Given the description of an element on the screen output the (x, y) to click on. 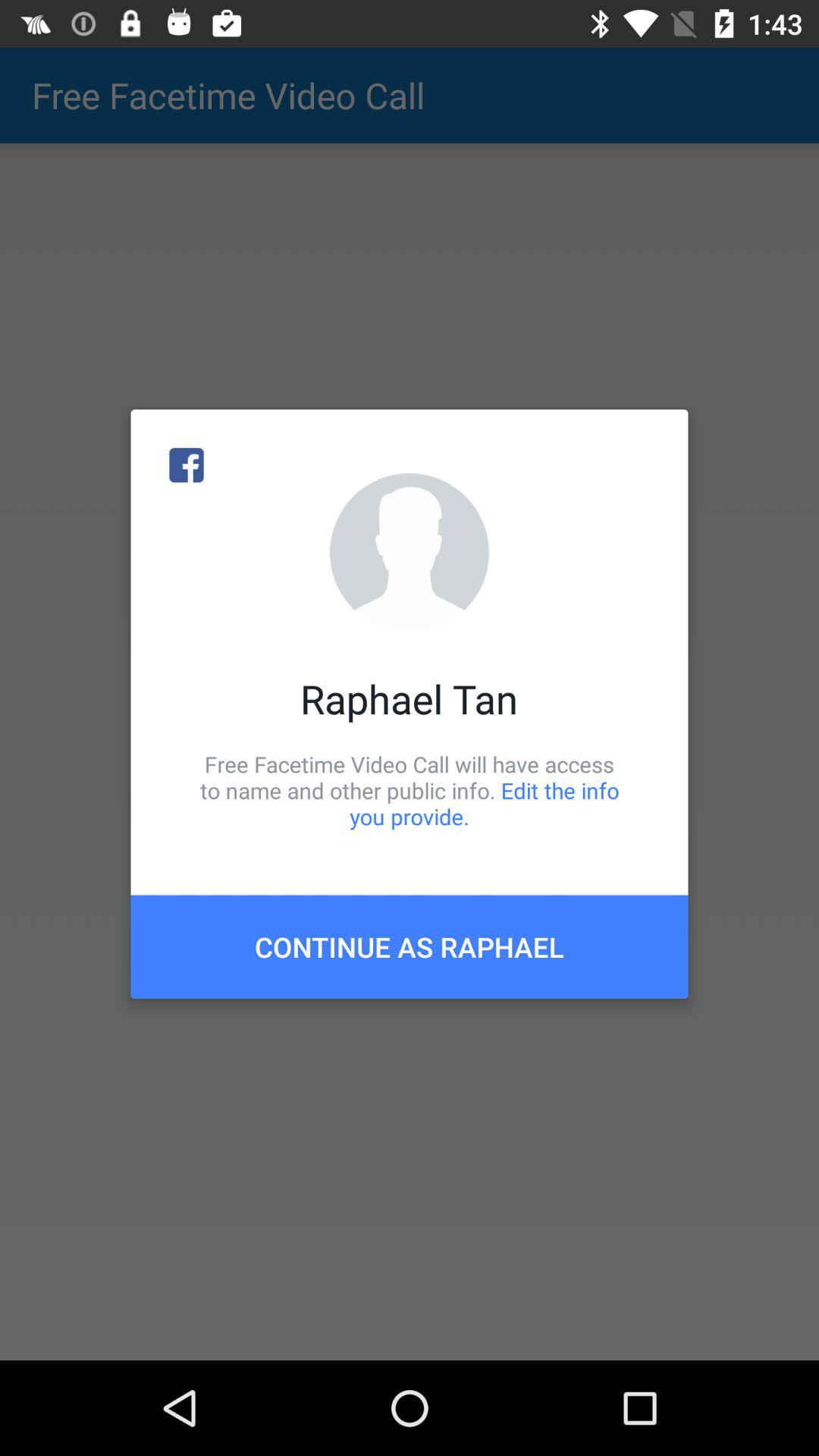
flip until the continue as raphael (409, 946)
